Given the description of an element on the screen output the (x, y) to click on. 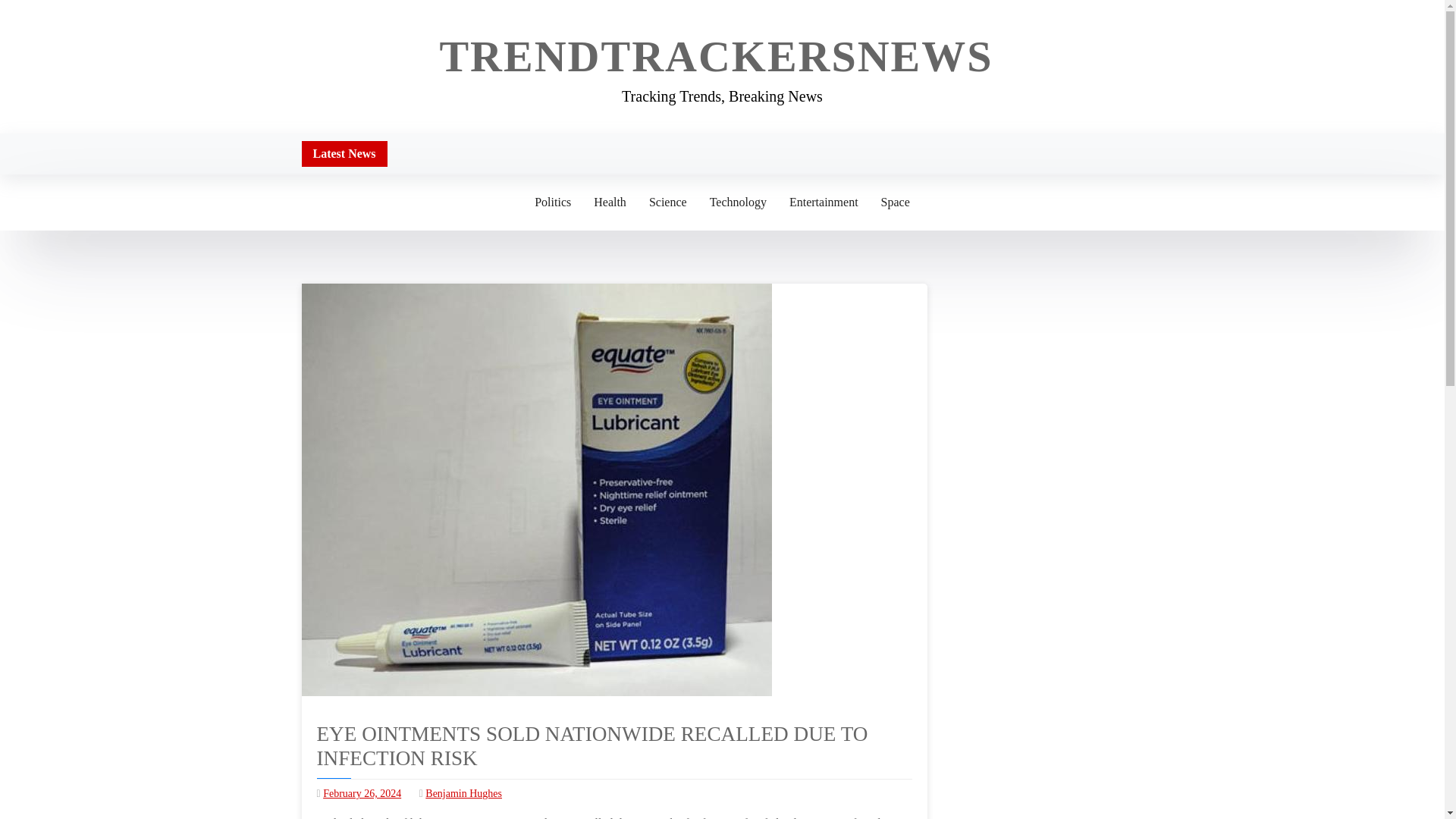
Entertainment (823, 201)
Politics (552, 201)
TRENDTRACKERSNEWS (715, 56)
Space (895, 201)
Health (609, 201)
February 26, 2024 (362, 793)
Science (667, 201)
Technology (737, 201)
Benjamin Hughes (463, 793)
